Given the description of an element on the screen output the (x, y) to click on. 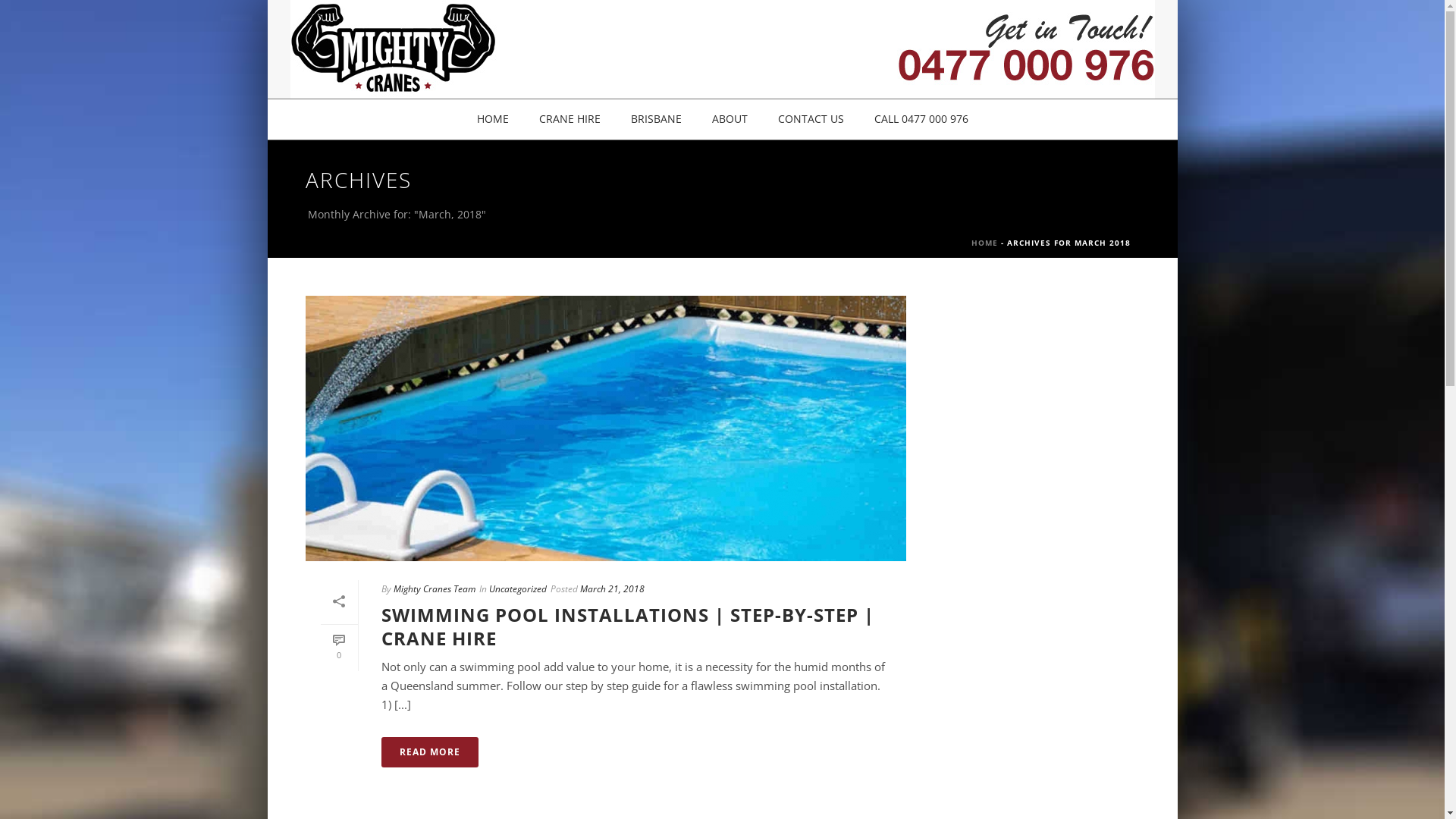
Mighty Cranes Team Element type: text (433, 588)
READ MORE Element type: text (428, 752)
ABOUT Element type: text (729, 119)
March 21, 2018 Element type: text (611, 588)
HOME Element type: text (492, 119)
Uncategorized Element type: text (517, 588)
  Element type: text (604, 428)
CONTACT US Element type: text (810, 119)
HOME Element type: text (983, 242)
Mighty Cranes Element type: hover (721, 49)
Swimming Pool Installations | Step-By-Step | Crane Hire Element type: hover (604, 428)
CRANE HIRE Element type: text (569, 119)
SWIMMING POOL INSTALLATIONS | STEP-BY-STEP | CRANE HIRE Element type: text (626, 626)
CALL 0477 000 976 Element type: text (920, 119)
BRISBANE Element type: text (655, 119)
0 Element type: text (338, 647)
